Given the description of an element on the screen output the (x, y) to click on. 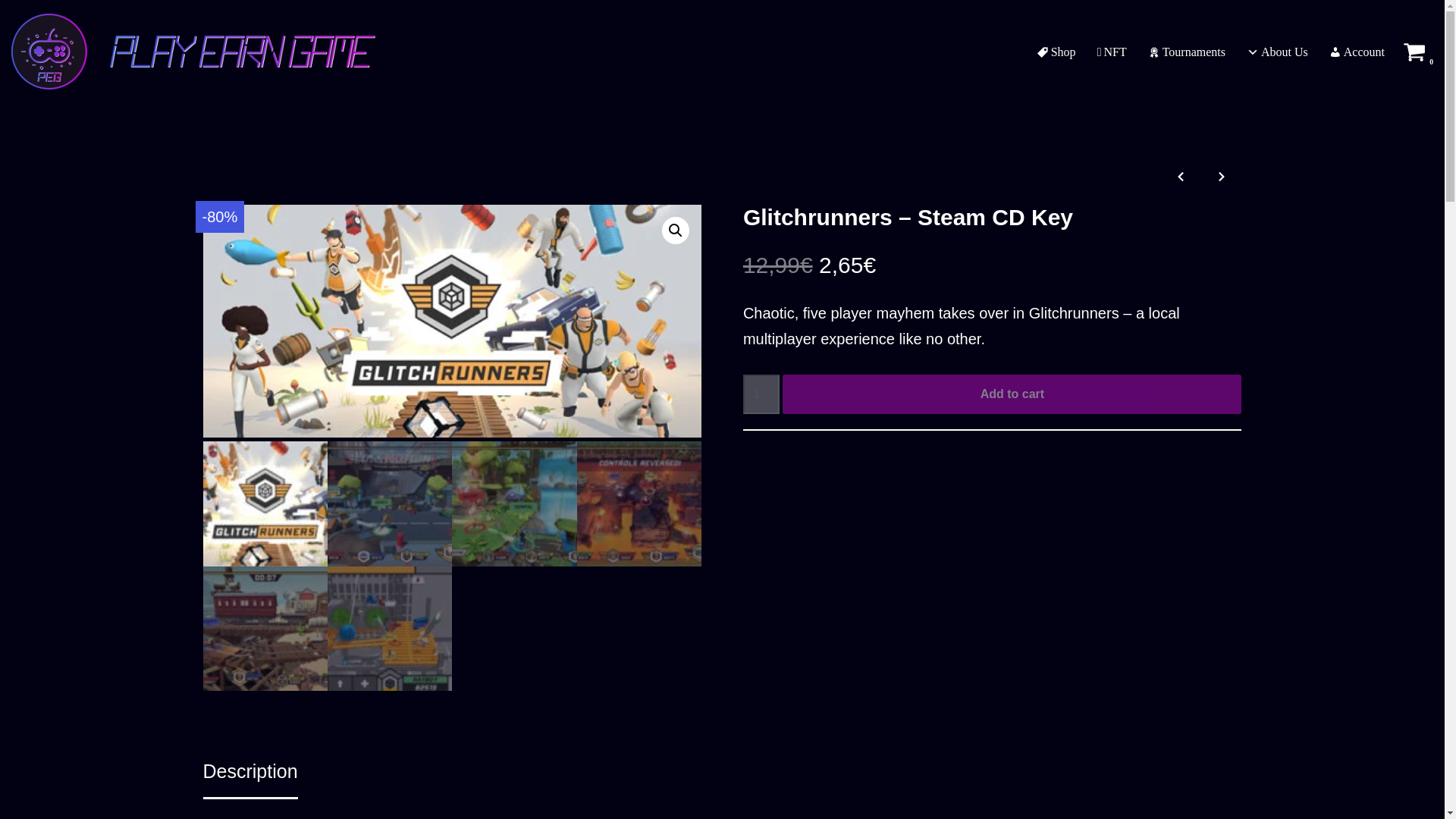
Glitchrunners20-20CD20Key-cover.jpg (452, 320)
About Us (1276, 51)
Shop (1055, 51)
Tournaments (1186, 51)
Skip to content (11, 31)
Add to cart (1012, 394)
NFT (1111, 51)
1 (760, 394)
0 (1414, 51)
Account (1356, 51)
